Given the description of an element on the screen output the (x, y) to click on. 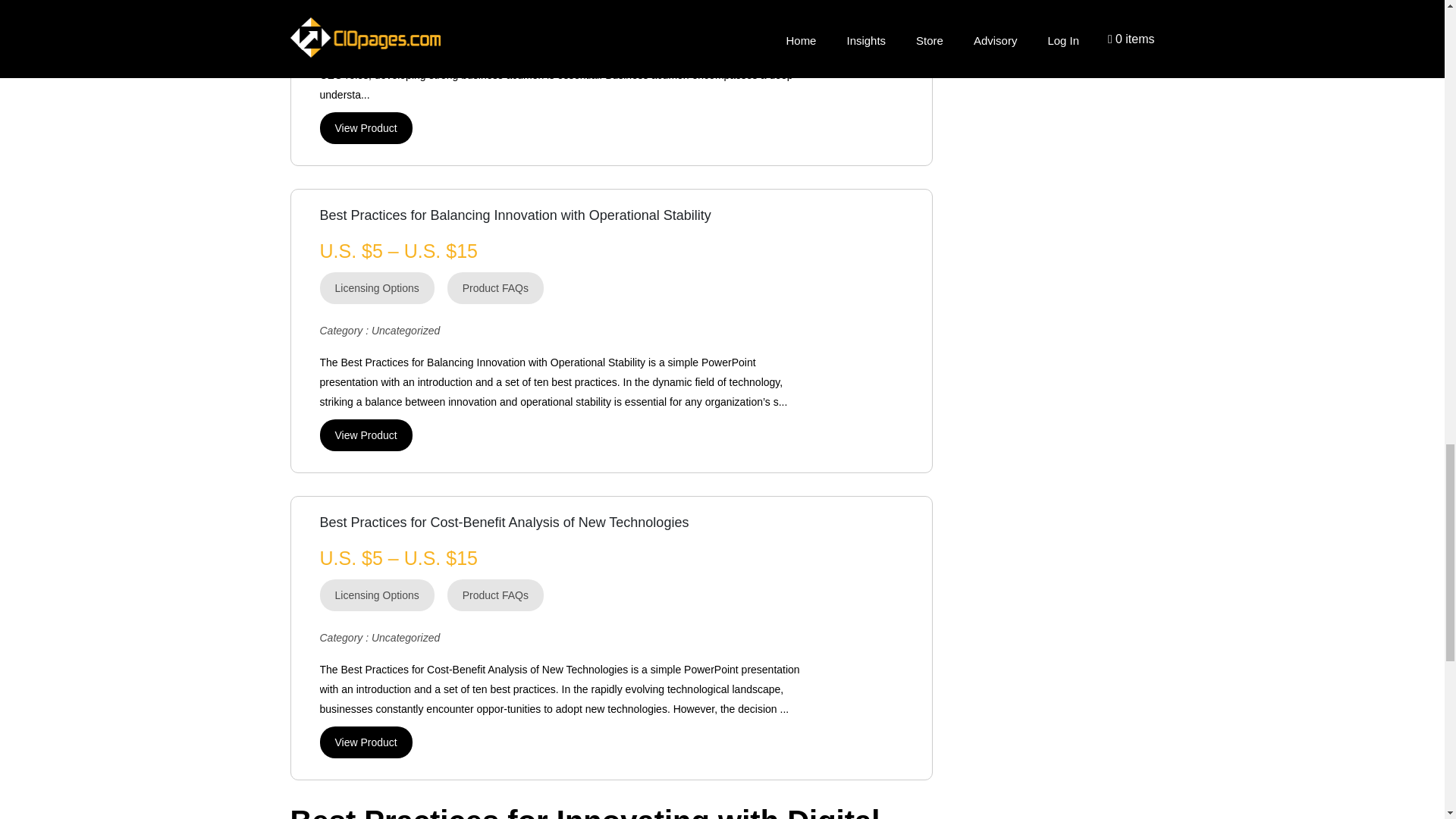
View Product (366, 128)
View Product (366, 435)
View Product (366, 742)
